Given the description of an element on the screen output the (x, y) to click on. 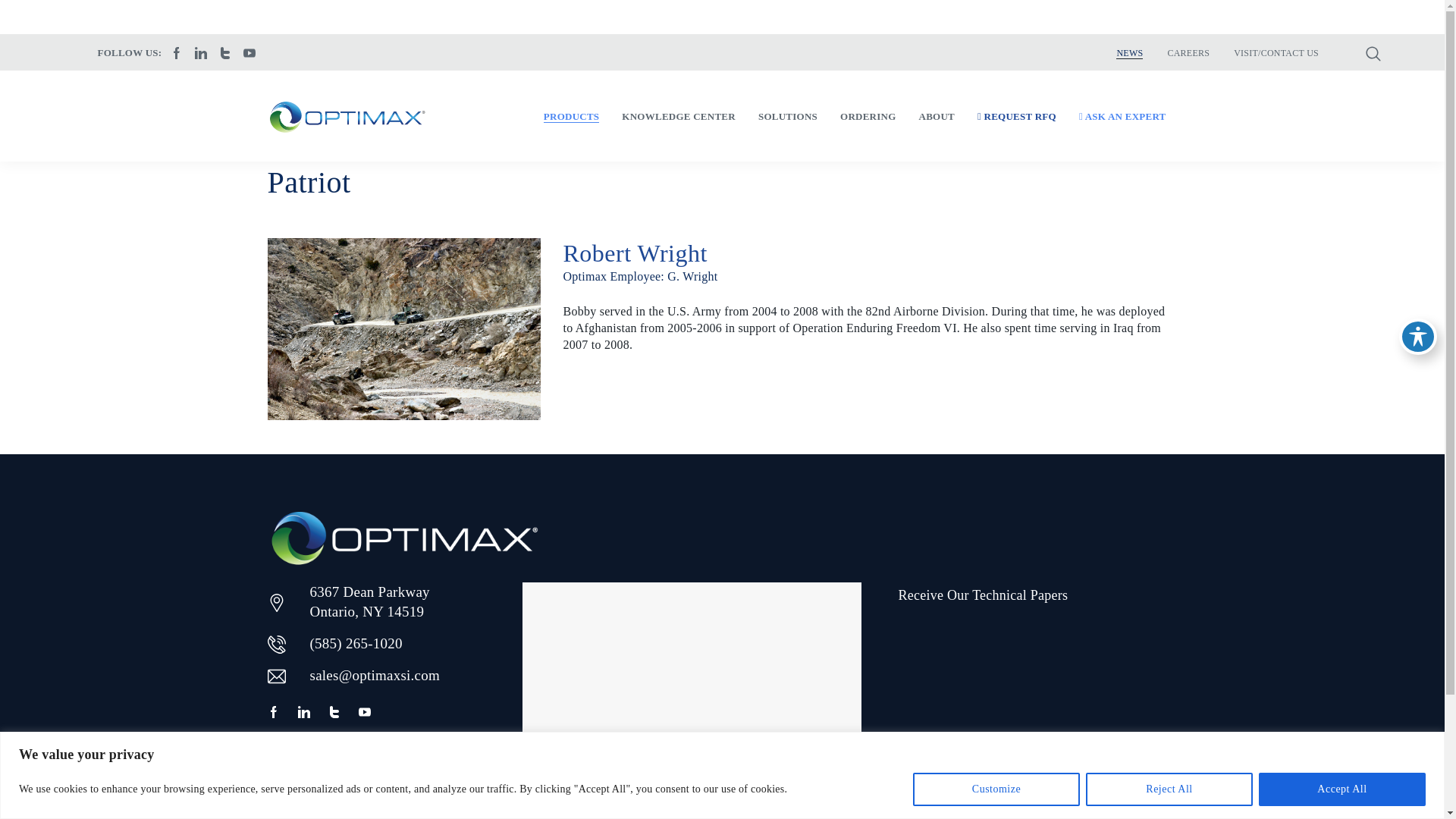
twitter (224, 52)
youtube (363, 712)
Form 0 (1037, 721)
Reject All (1169, 788)
linkedin (200, 52)
Customize (996, 788)
linkedin (303, 712)
facebook (272, 712)
youtube (249, 52)
Optimax Systems, Inc (346, 115)
